Given the description of an element on the screen output the (x, y) to click on. 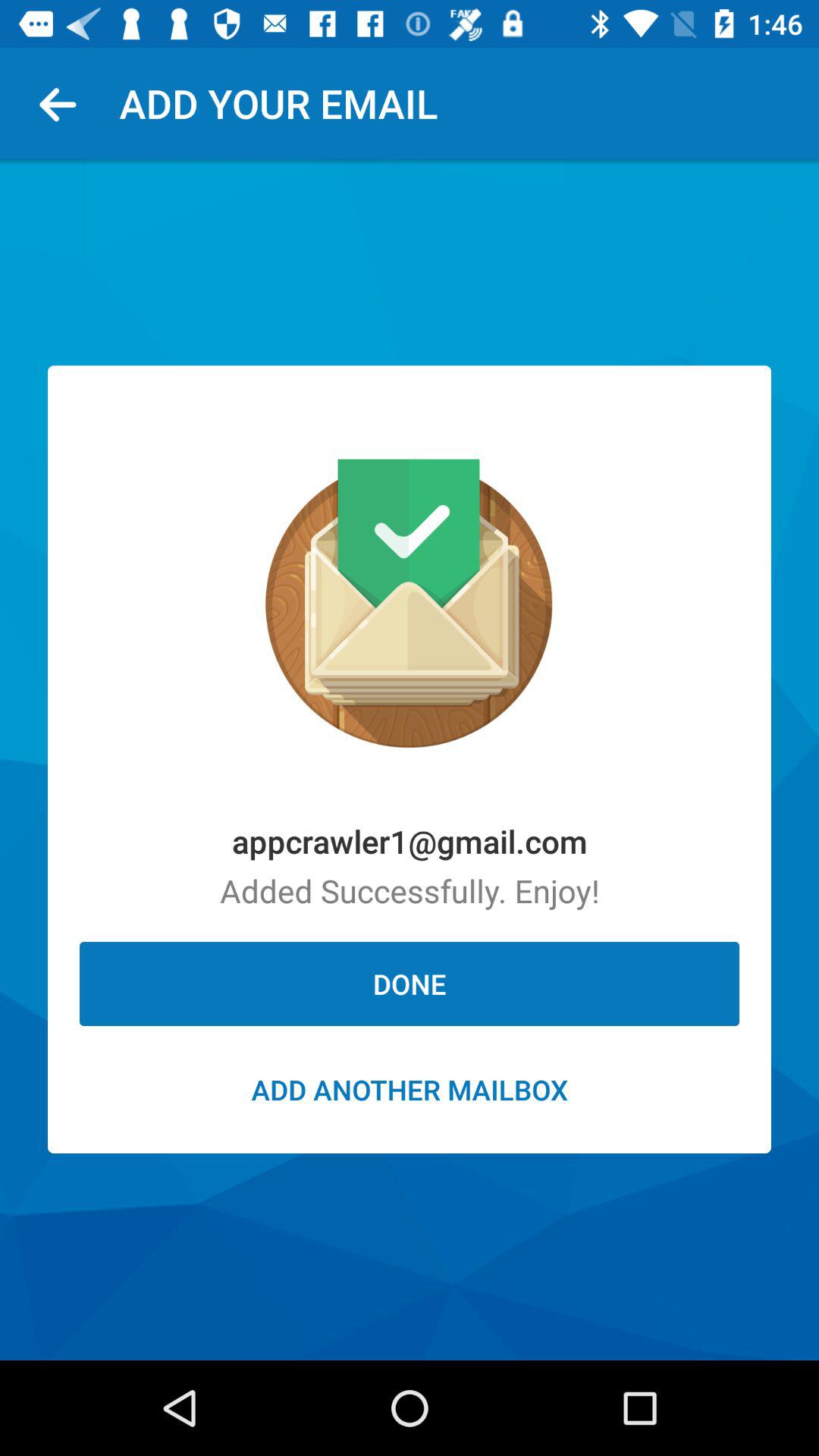
flip until add another mailbox item (409, 1089)
